Given the description of an element on the screen output the (x, y) to click on. 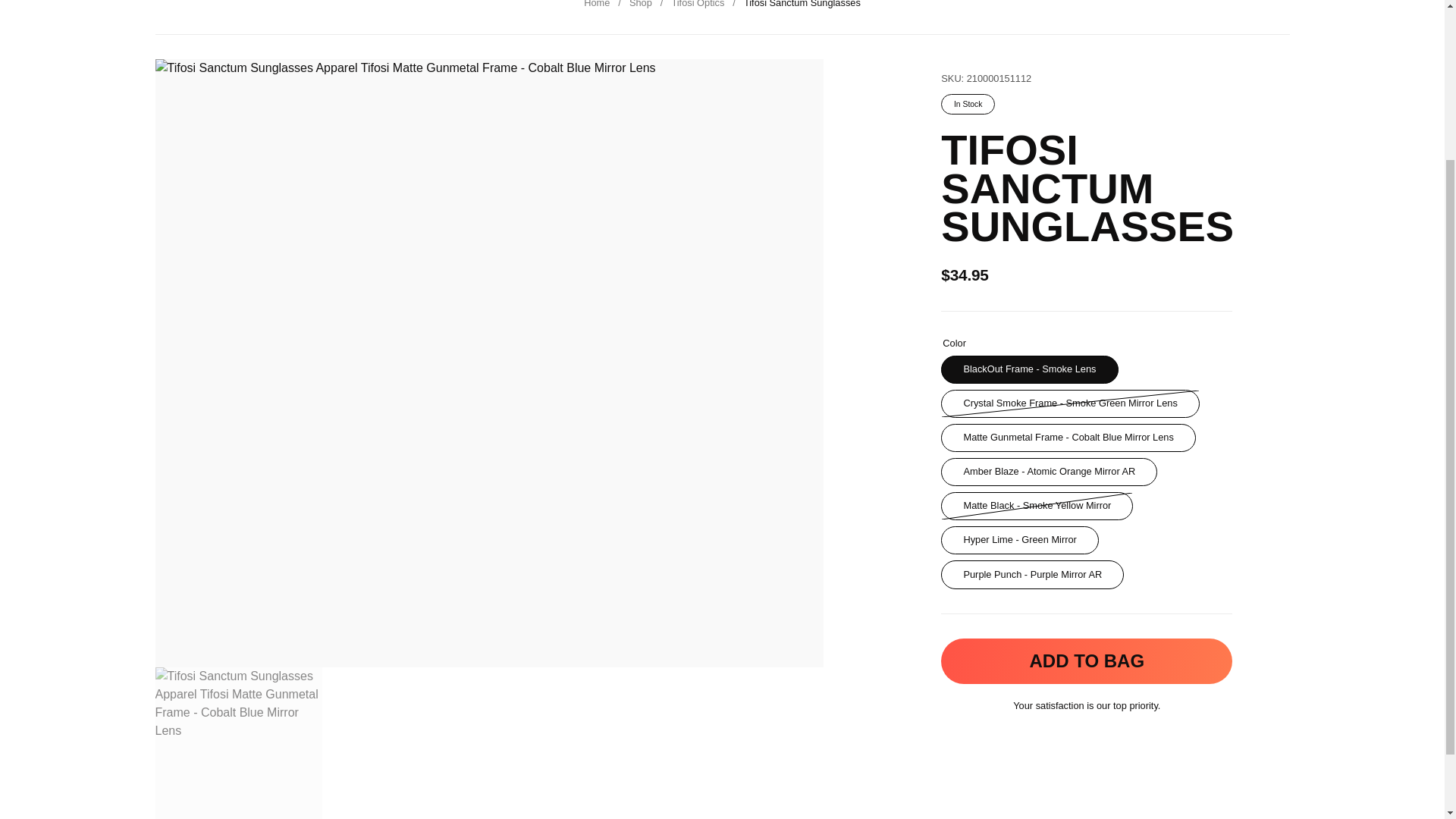
Shop (640, 4)
Home (596, 4)
